Given the description of an element on the screen output the (x, y) to click on. 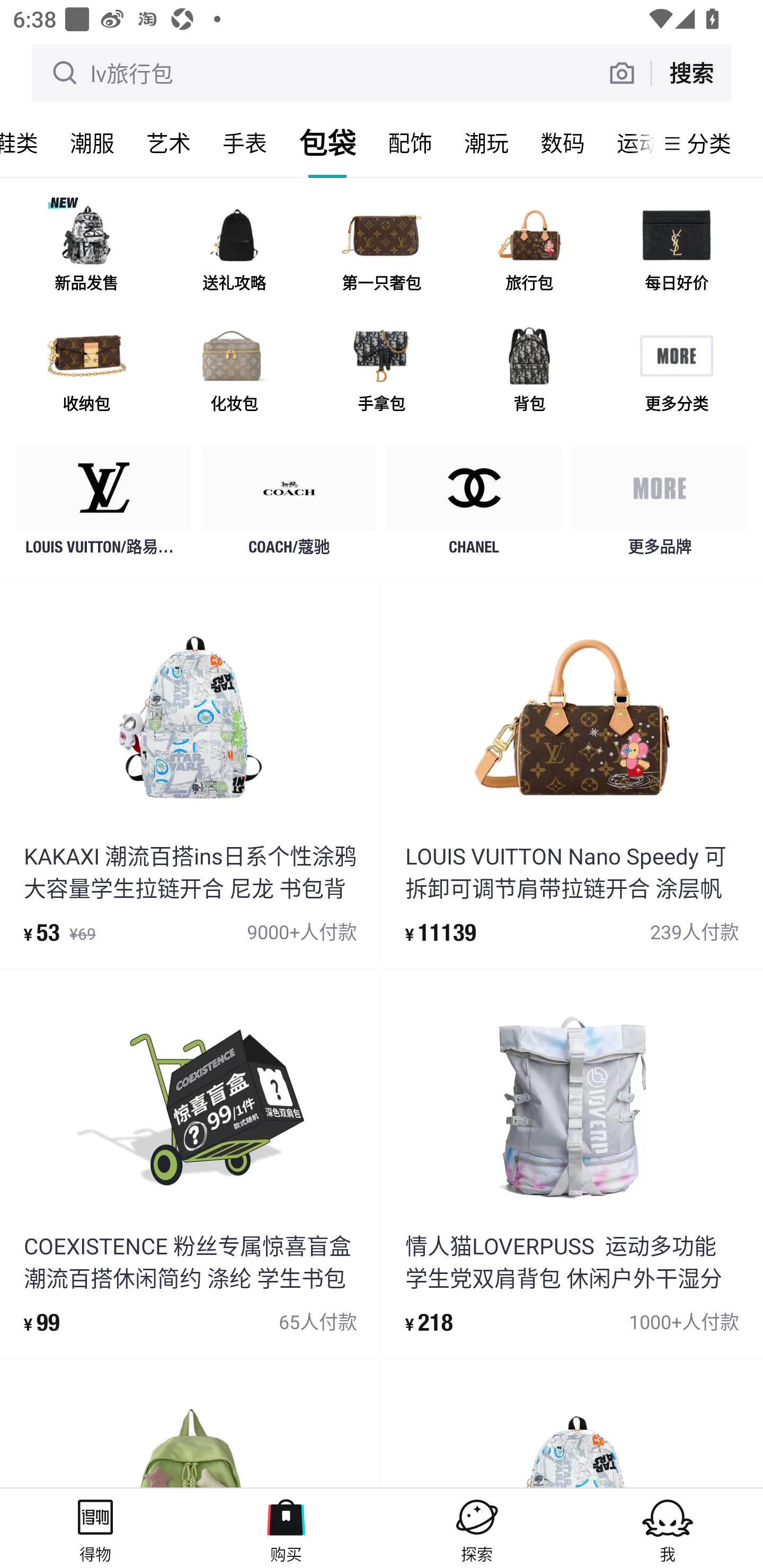
搜索 (690, 72)
鞋类 (27, 143)
潮服 (92, 143)
艺术 (168, 143)
手表 (244, 143)
包袋 (327, 143)
配饰 (410, 143)
潮玩 (486, 143)
数码 (562, 143)
运动 (627, 143)
分类 (708, 143)
新品发售 (86, 251)
送礼攻略 (233, 251)
第一只奢包 (381, 251)
旅行包 (528, 251)
每日好价 (676, 251)
收纳包 (86, 372)
化妆包 (233, 372)
手拿包 (381, 372)
背包 (528, 372)
更多分类 (676, 372)
LOUIS VUITTON/路易威登 (103, 505)
COACH/蔻驰 (288, 505)
CHANEL (473, 505)
更多品牌 (658, 505)
得物 (95, 1528)
购买 (285, 1528)
探索 (476, 1528)
我 (667, 1528)
